Given the description of an element on the screen output the (x, y) to click on. 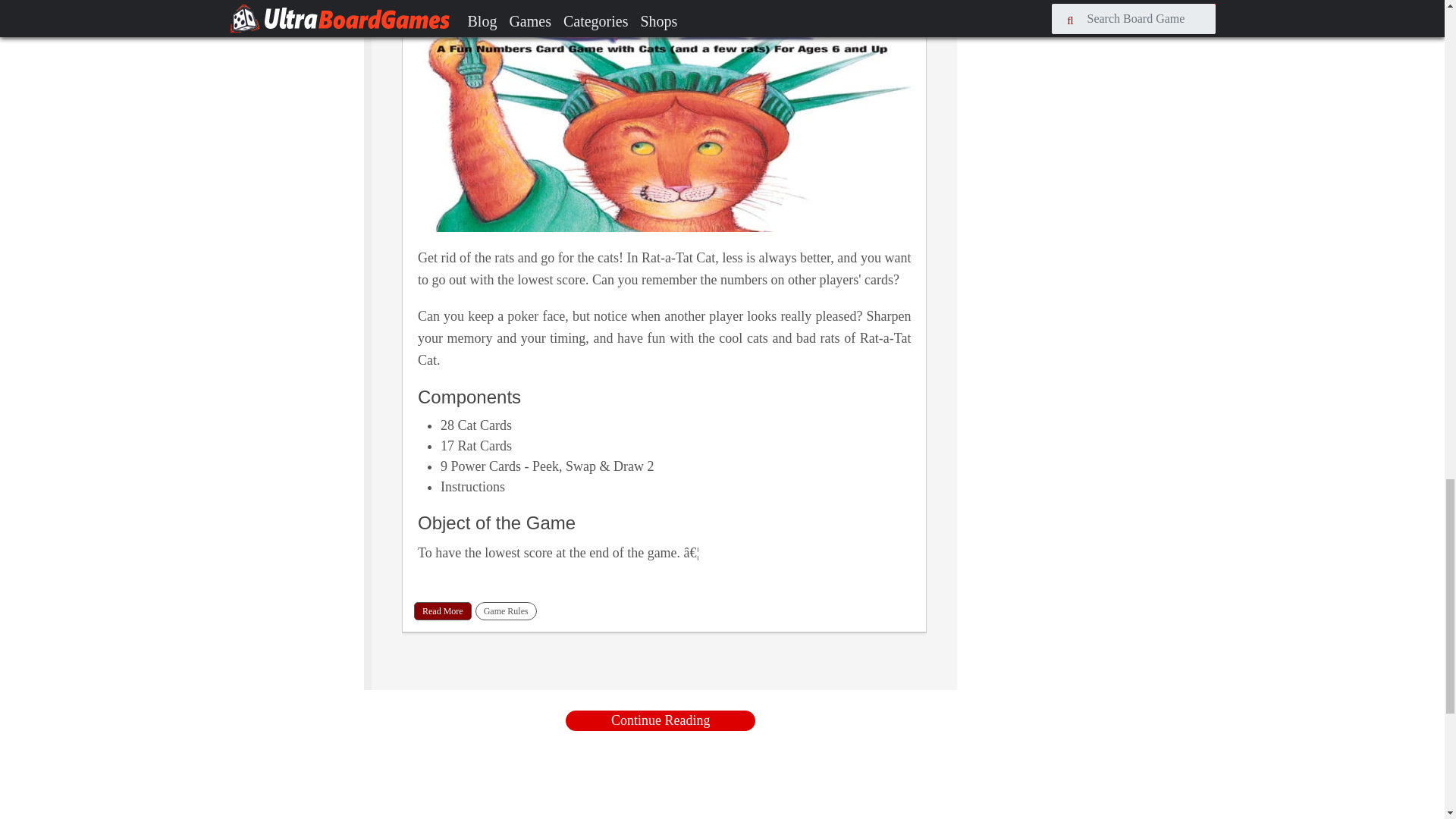
Game Rules (506, 610)
Read More (442, 610)
Continue Reading (660, 720)
